Given the description of an element on the screen output the (x, y) to click on. 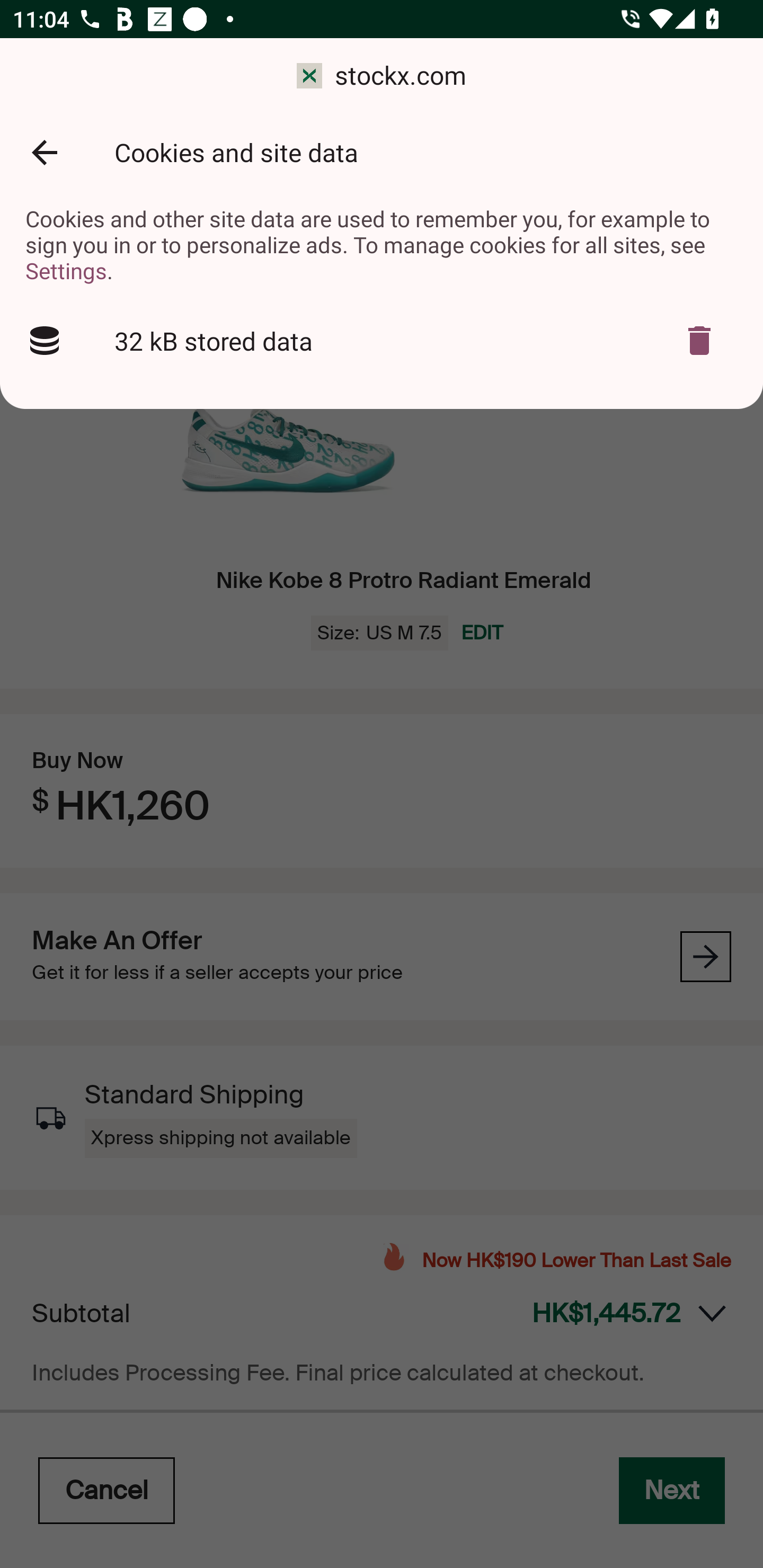
stockx.com (381, 75)
Back (44, 152)
32 kB stored data Delete cookies? (381, 340)
